Given the description of an element on the screen output the (x, y) to click on. 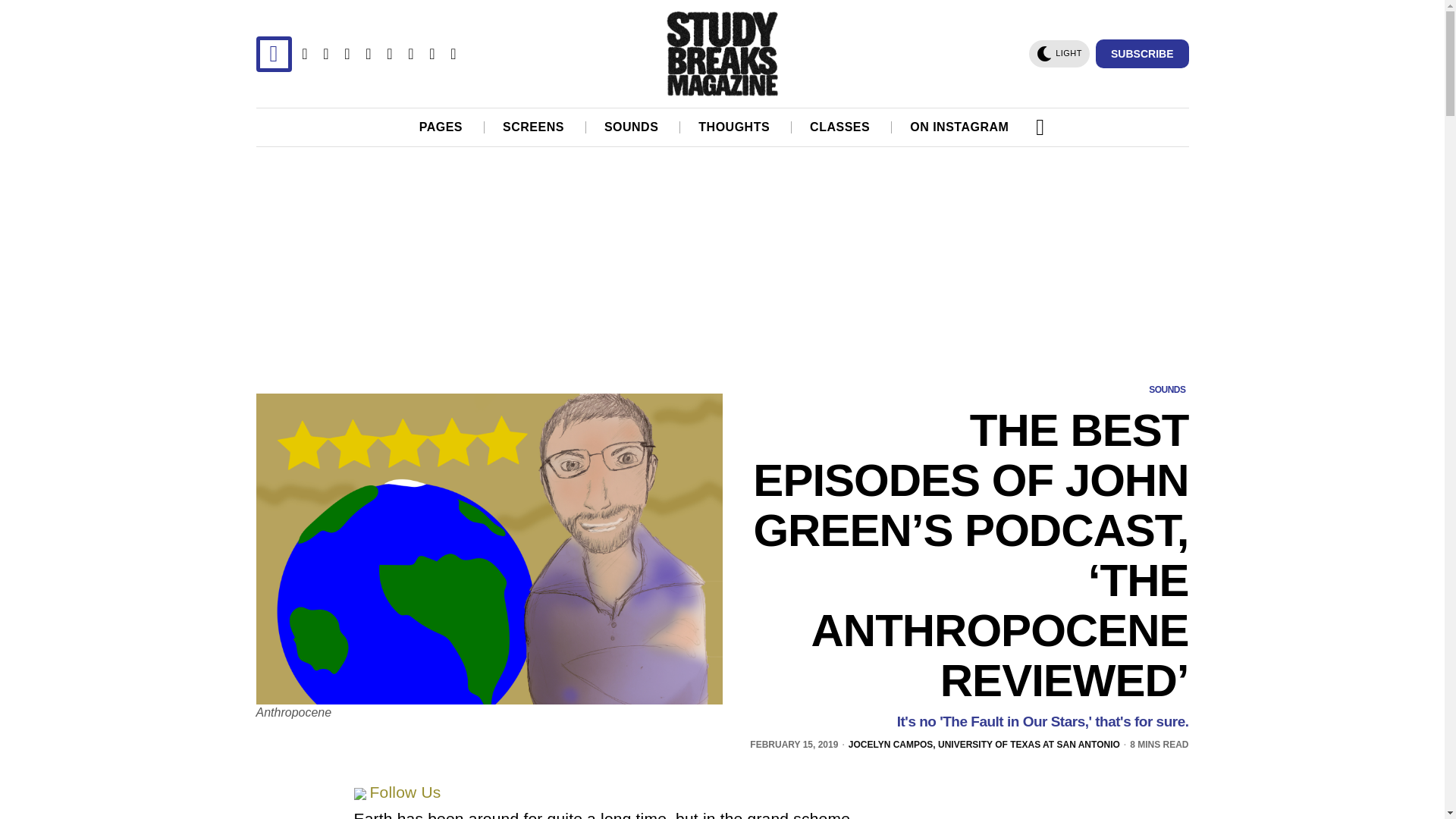
15 Feb, 2019 12:41:00 (793, 744)
PAGES (441, 127)
SUBSCRIBE (1142, 53)
THOUGHTS (734, 127)
SOUNDS (632, 127)
SCREENS (534, 127)
ON INSTAGRAM (960, 127)
CLASSES (840, 127)
